Given the description of an element on the screen output the (x, y) to click on. 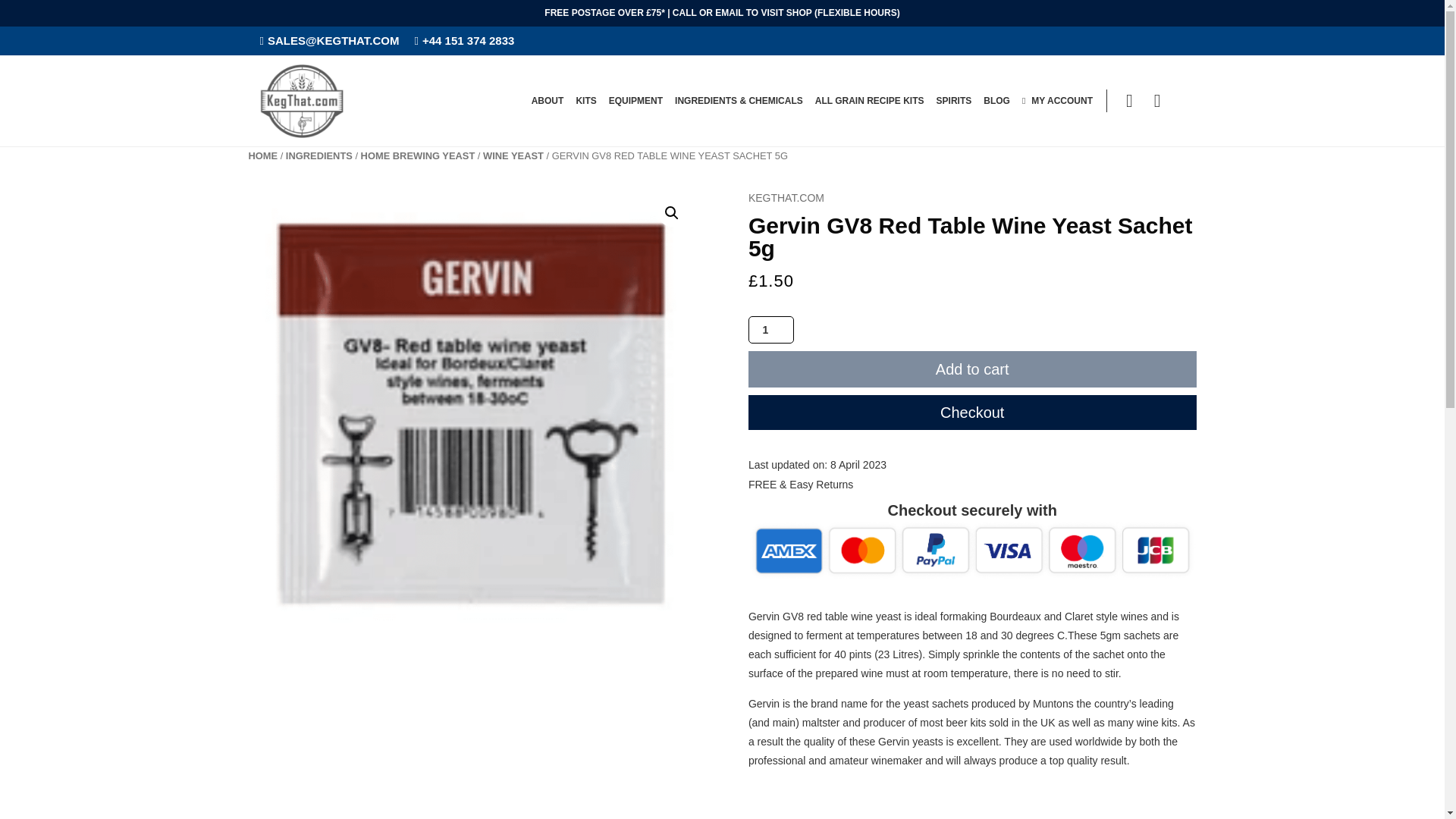
KITS (585, 100)
1 (770, 329)
ABOUT (547, 100)
Visa (972, 550)
